Given the description of an element on the screen output the (x, y) to click on. 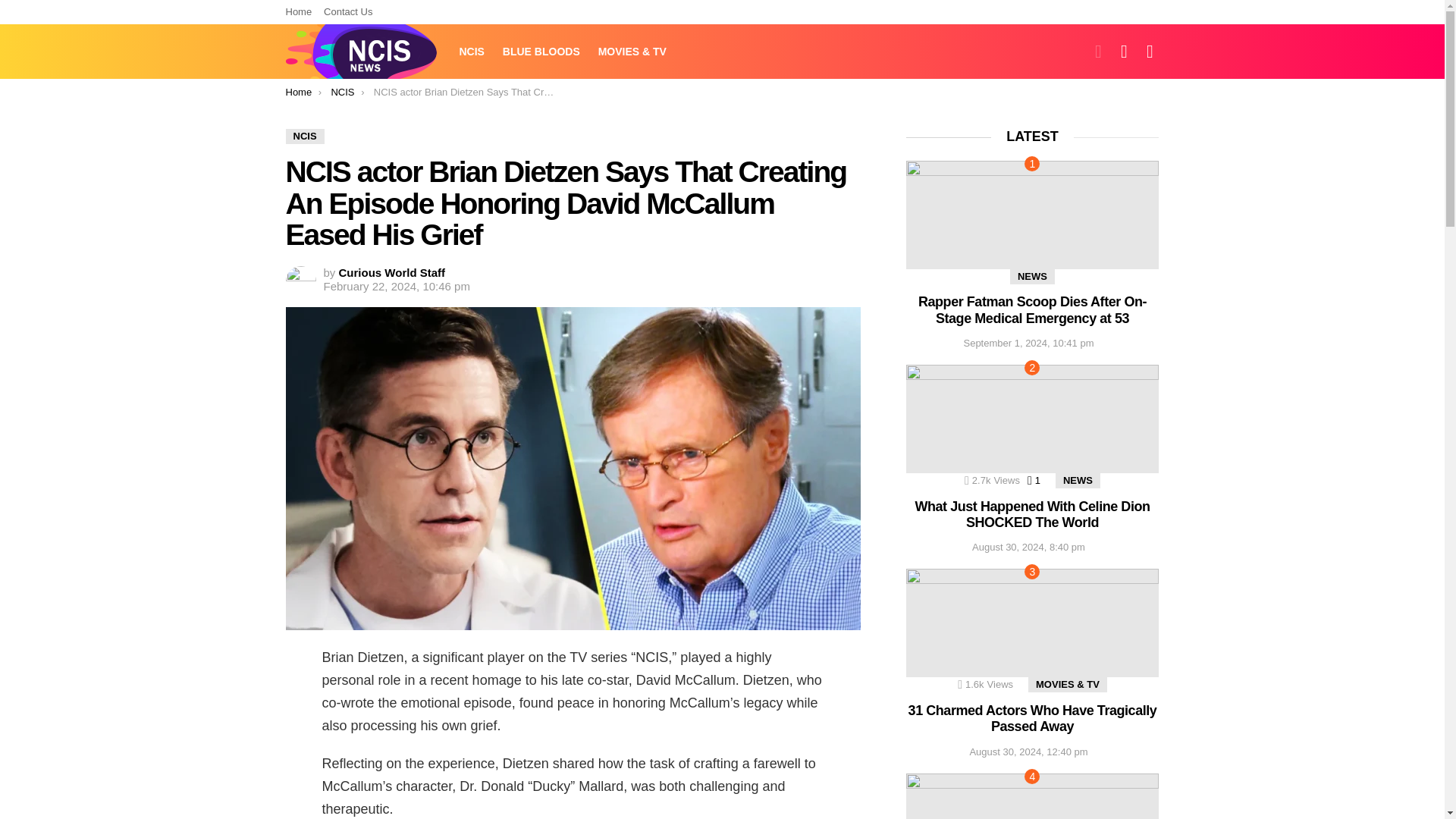
NCIS (341, 91)
Contact Us (347, 12)
Curious World Staff (392, 272)
Home (298, 12)
Posts by Curious World Staff (392, 272)
NCIS (304, 136)
BLUE BLOODS (541, 51)
Home (298, 91)
NCIS (471, 51)
